Given the description of an element on the screen output the (x, y) to click on. 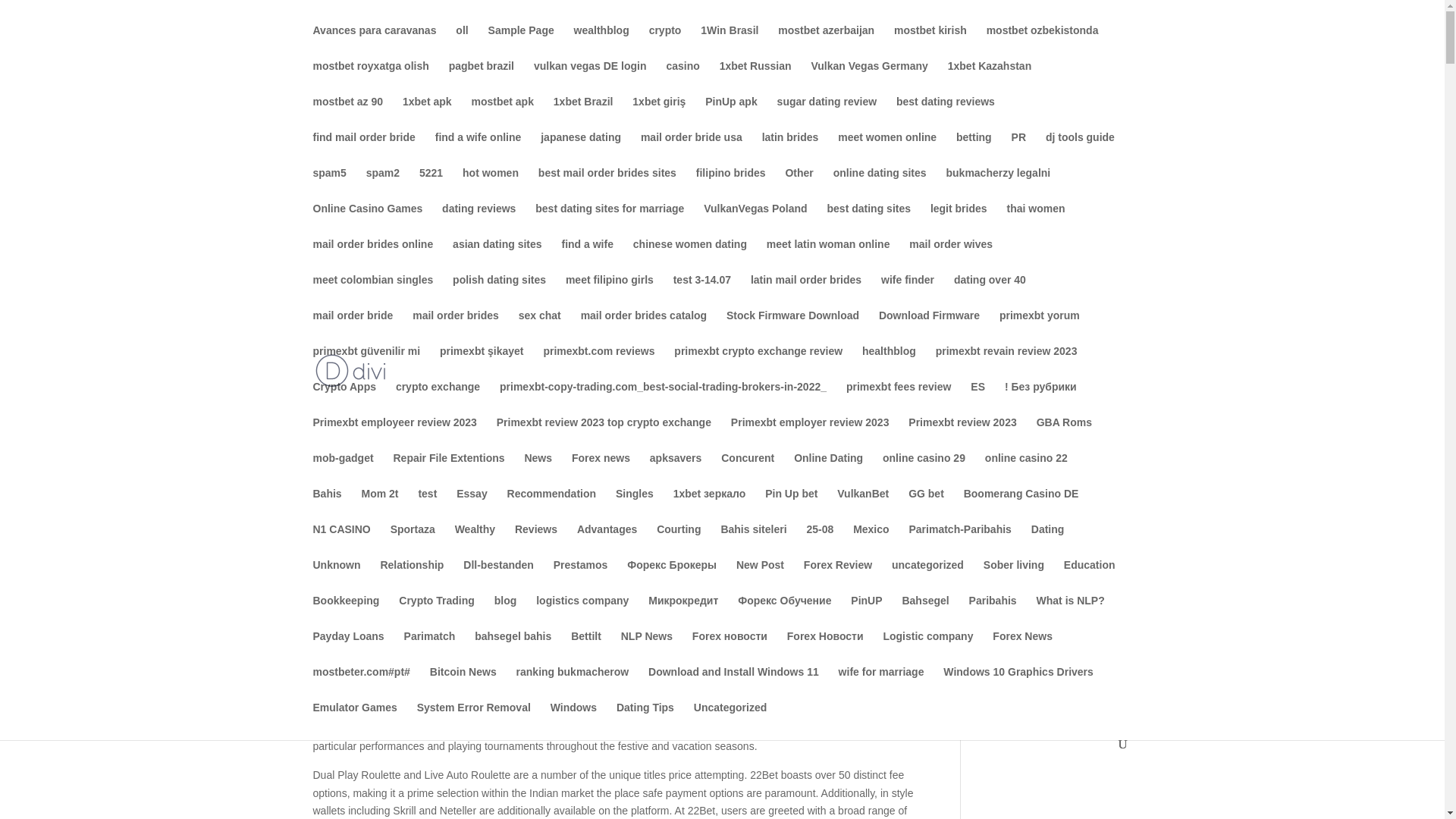
betting (973, 149)
mostbet royxatga olish (370, 78)
casino (681, 78)
latin brides (789, 149)
1xbet Kazahstan (988, 78)
1xbet Russian (755, 78)
sugar dating review (826, 113)
find mail order bride (363, 149)
spam2 (382, 185)
1xbet Brazil (582, 113)
vulkan vegas DE login (590, 78)
best mail order brides sites (607, 185)
1Win Brasil (729, 42)
dj tools guide (1080, 149)
mostbet apk (501, 113)
